Given the description of an element on the screen output the (x, y) to click on. 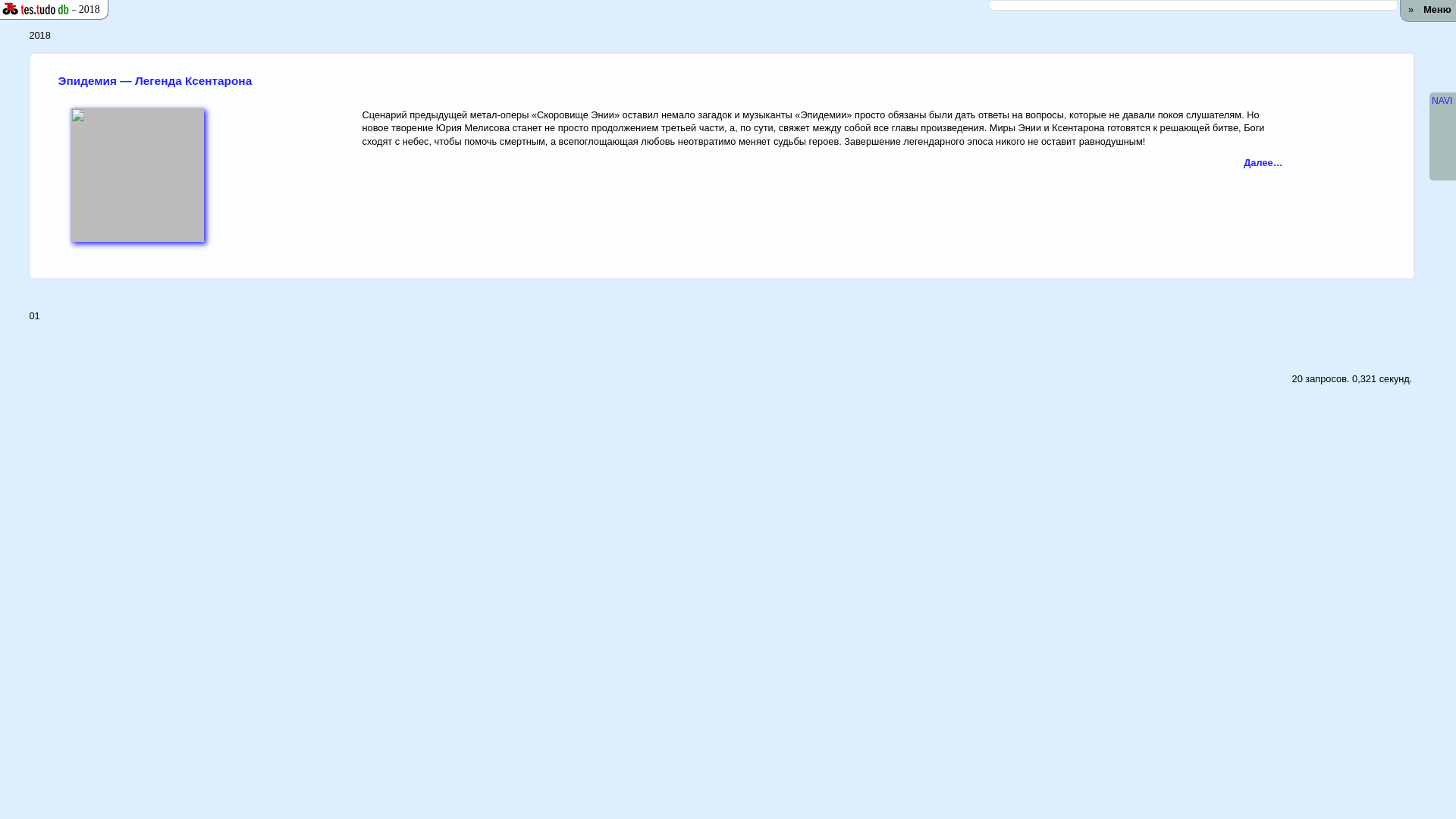
Tes.tudo db Element type: text (29, 9)
